Given the description of an element on the screen output the (x, y) to click on. 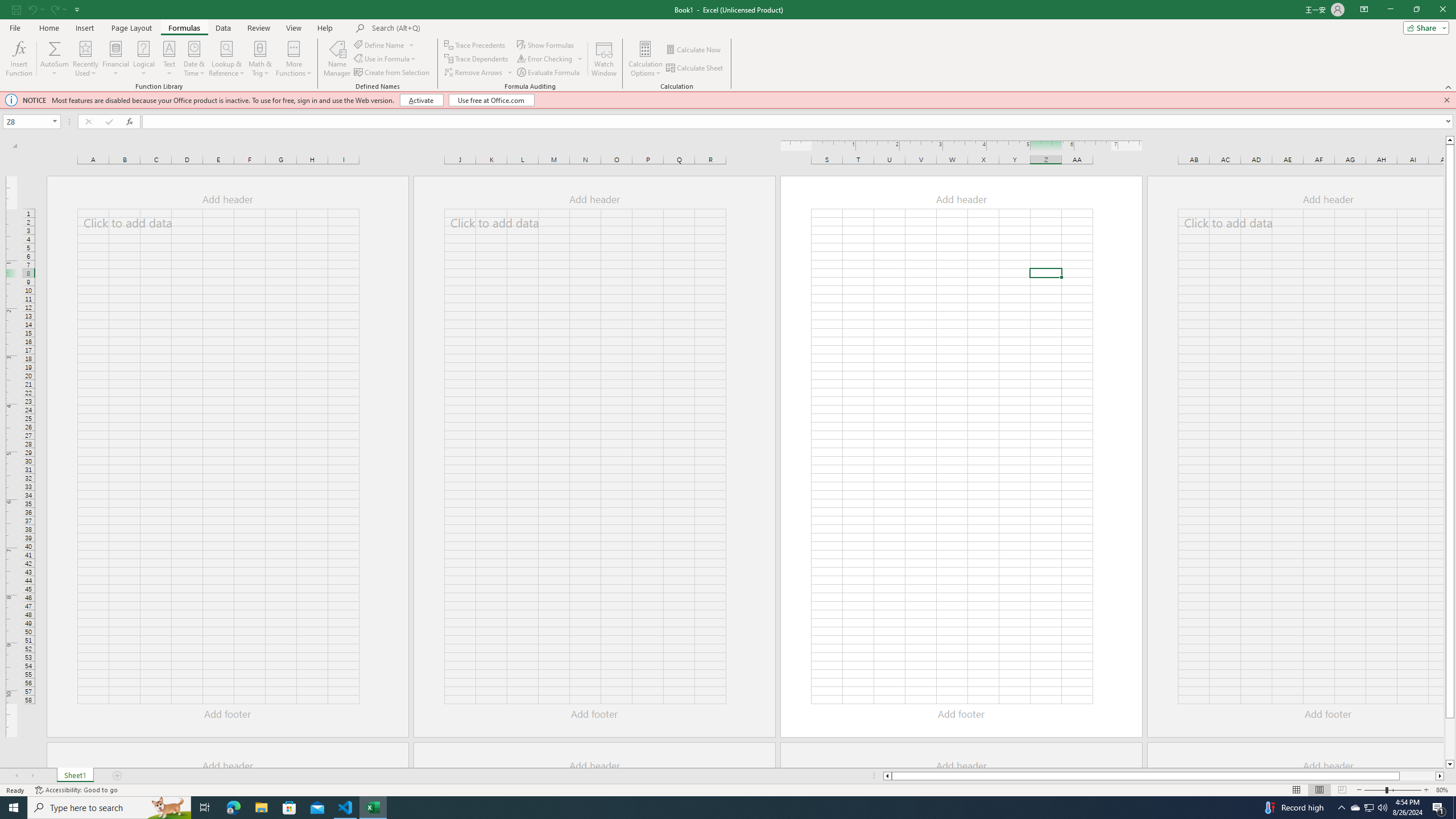
Calculate Now (694, 49)
Trace Dependents (477, 58)
Error Checking... (550, 58)
Lookup & Reference (227, 58)
